Given the description of an element on the screen output the (x, y) to click on. 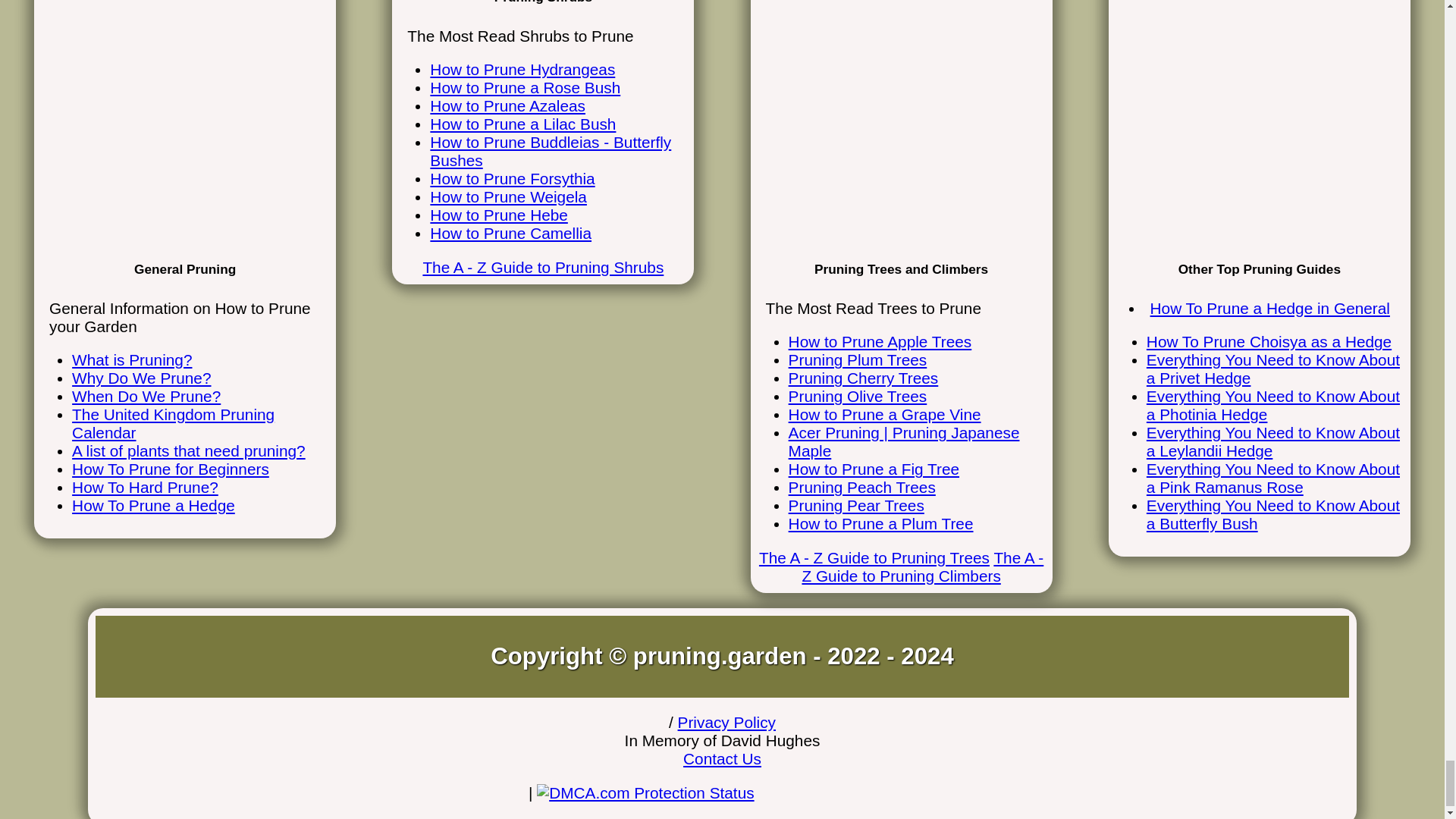
DMCA.com Protection Status (645, 792)
